Given the description of an element on the screen output the (x, y) to click on. 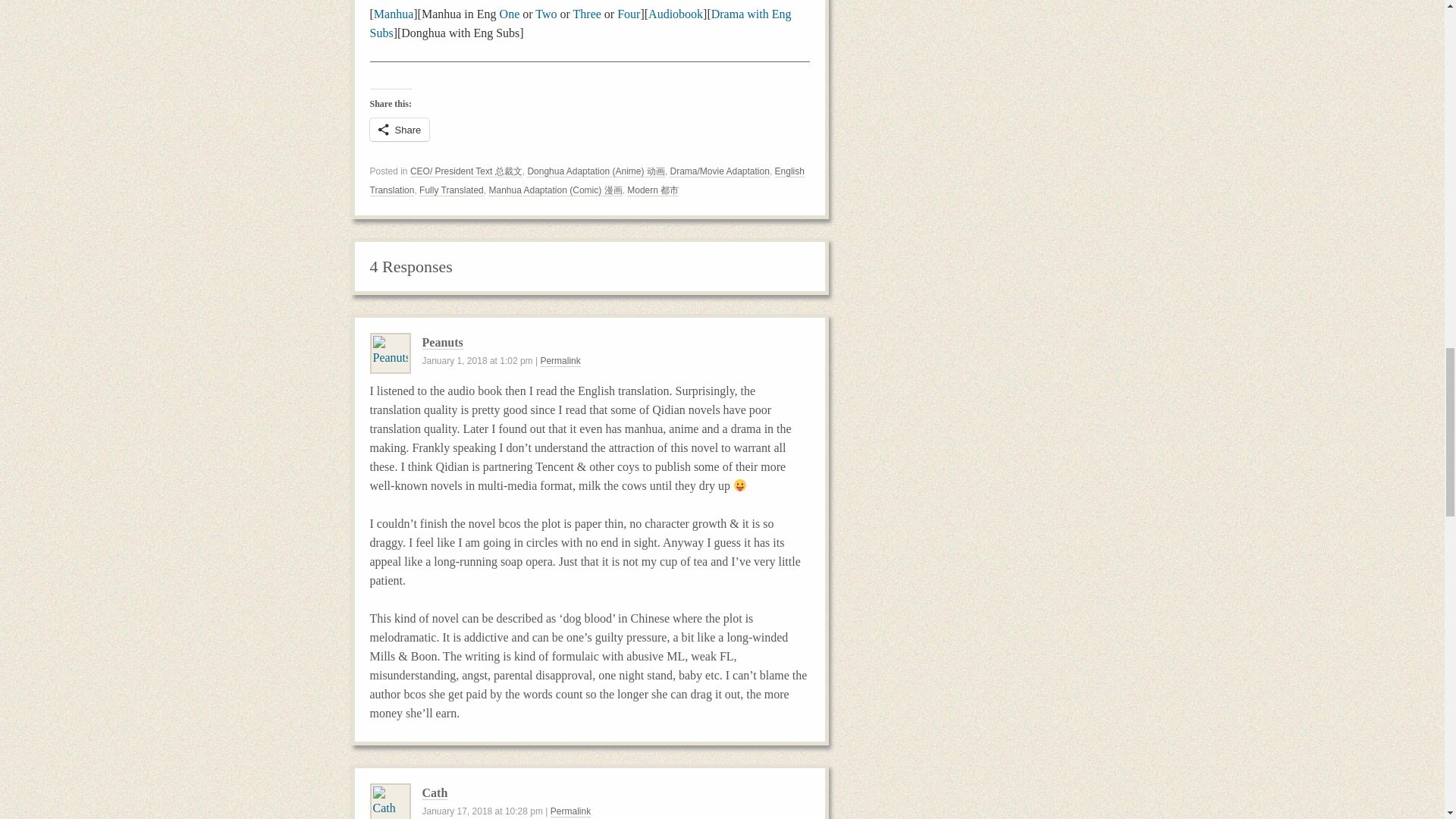
Manhua (393, 13)
One (509, 13)
Share (399, 128)
Two (545, 13)
Three (587, 13)
Audiobook (675, 13)
Four (628, 13)
Drama with Eng Subs (580, 23)
